Given the description of an element on the screen output the (x, y) to click on. 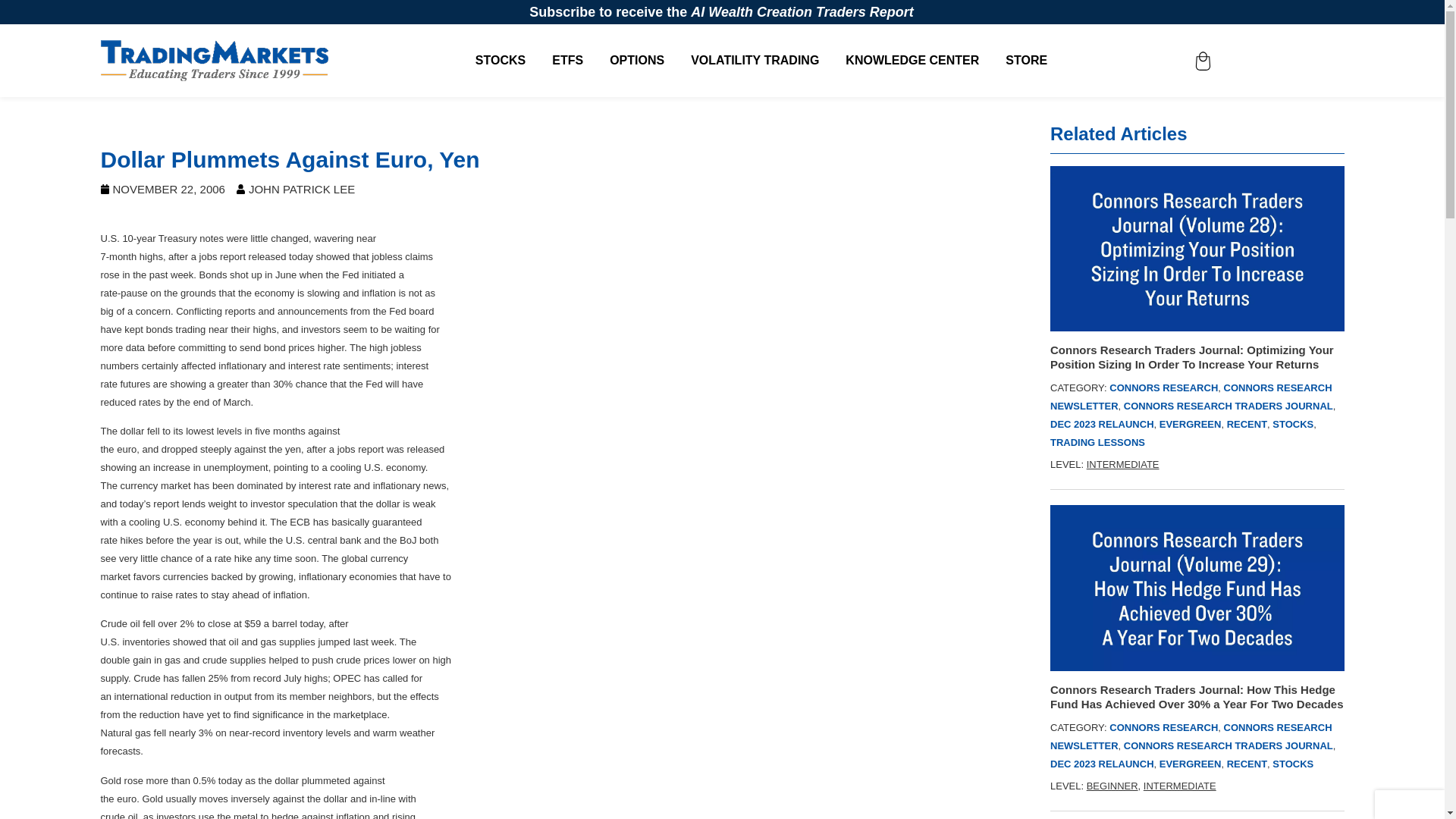
VOLATILITY TRADING (754, 60)
CONNORS RESEARCH NEWSLETTER (1190, 736)
EVERGREEN (1189, 423)
RECENT (1246, 423)
CONNORS RESEARCH TRADERS JOURNAL (1228, 745)
CONNORS RESEARCH NEWSLETTER (1190, 396)
TRADING LESSONS (1096, 441)
KNOWLEDGE CENTER (911, 60)
Subscribe to receive the AI Wealth Creation Traders Report (722, 11)
RECENT (1246, 763)
STOCKS (1292, 423)
DEC 2023 RELAUNCH (1101, 423)
EVERGREEN (1189, 763)
CONNORS RESEARCH (1163, 387)
